Given the description of an element on the screen output the (x, y) to click on. 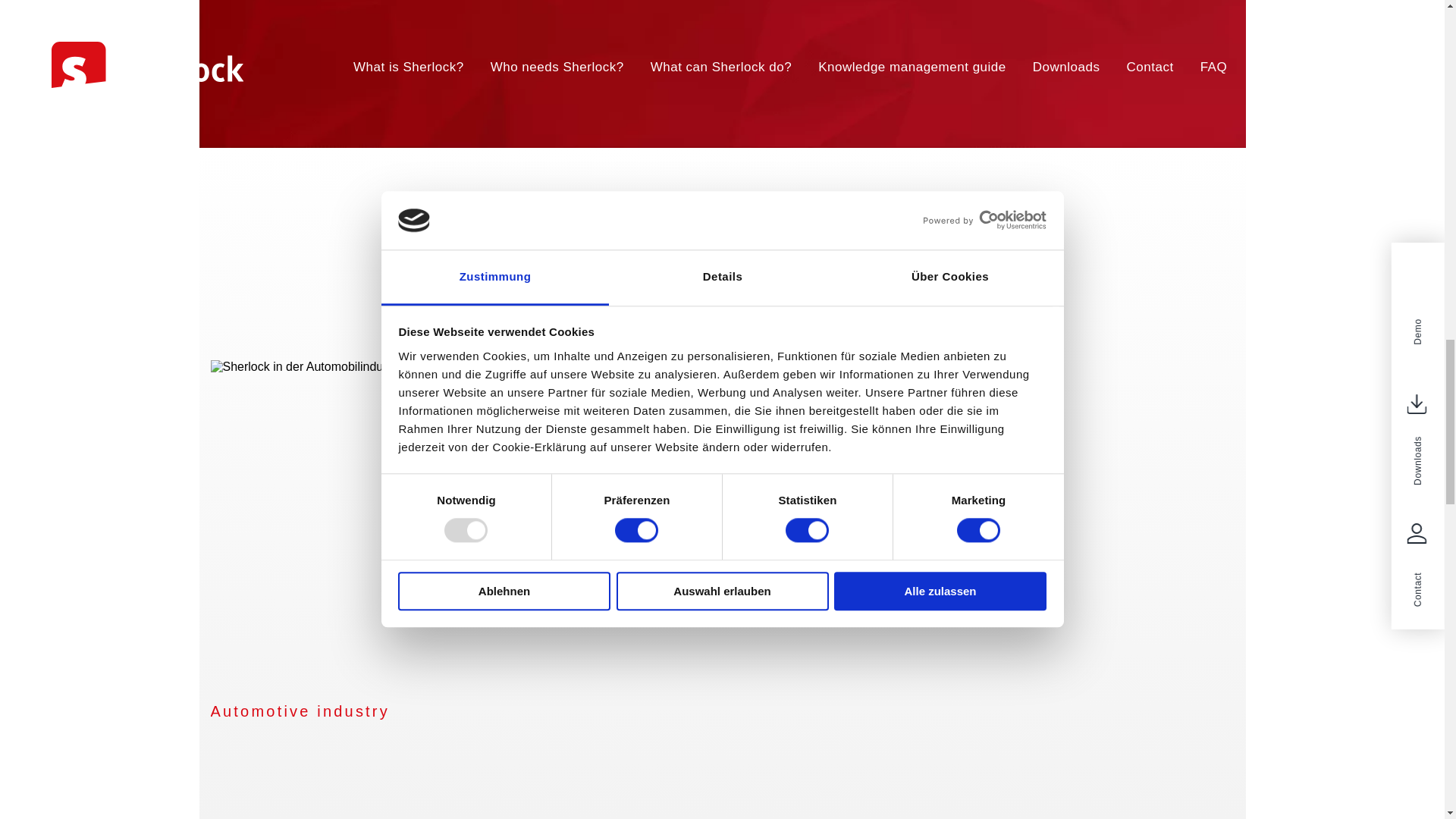
Back (186, 567)
Next (1257, 567)
